Given the description of an element on the screen output the (x, y) to click on. 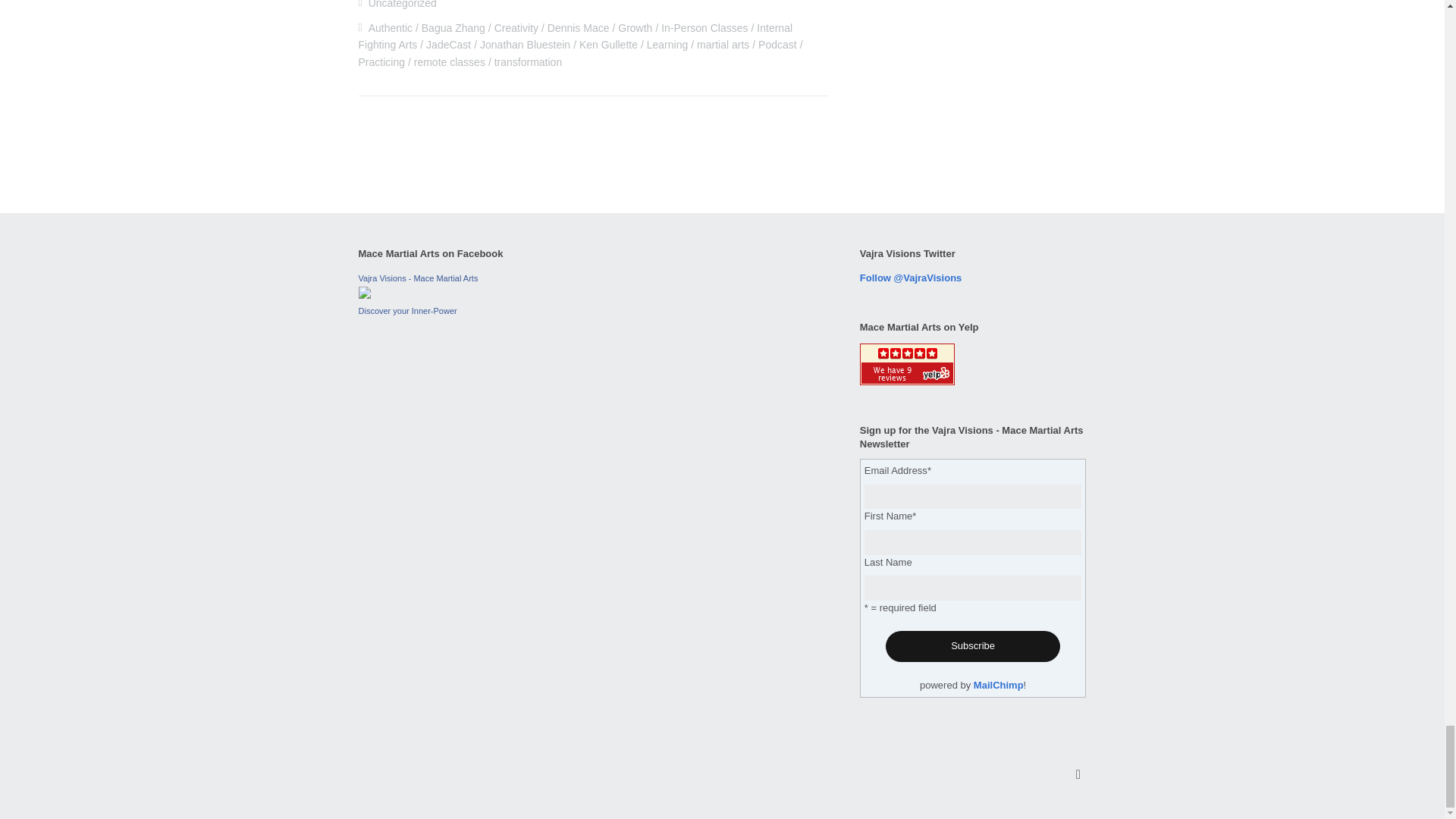
Podcast (777, 44)
Ken Gullette (608, 44)
JadeCast (448, 44)
Uncategorized (402, 4)
Growth (634, 28)
martial arts (723, 44)
Internal Fighting Arts (575, 36)
Creativity (516, 28)
Vajra Visions - Mace Martial Arts (363, 295)
Jonathan Bluestein (525, 44)
Learning (667, 44)
Authentic (390, 28)
In-Person Classes (704, 28)
Vajra Visions - Mace Martial Arts (417, 277)
Bagua Zhang (453, 28)
